Given the description of an element on the screen output the (x, y) to click on. 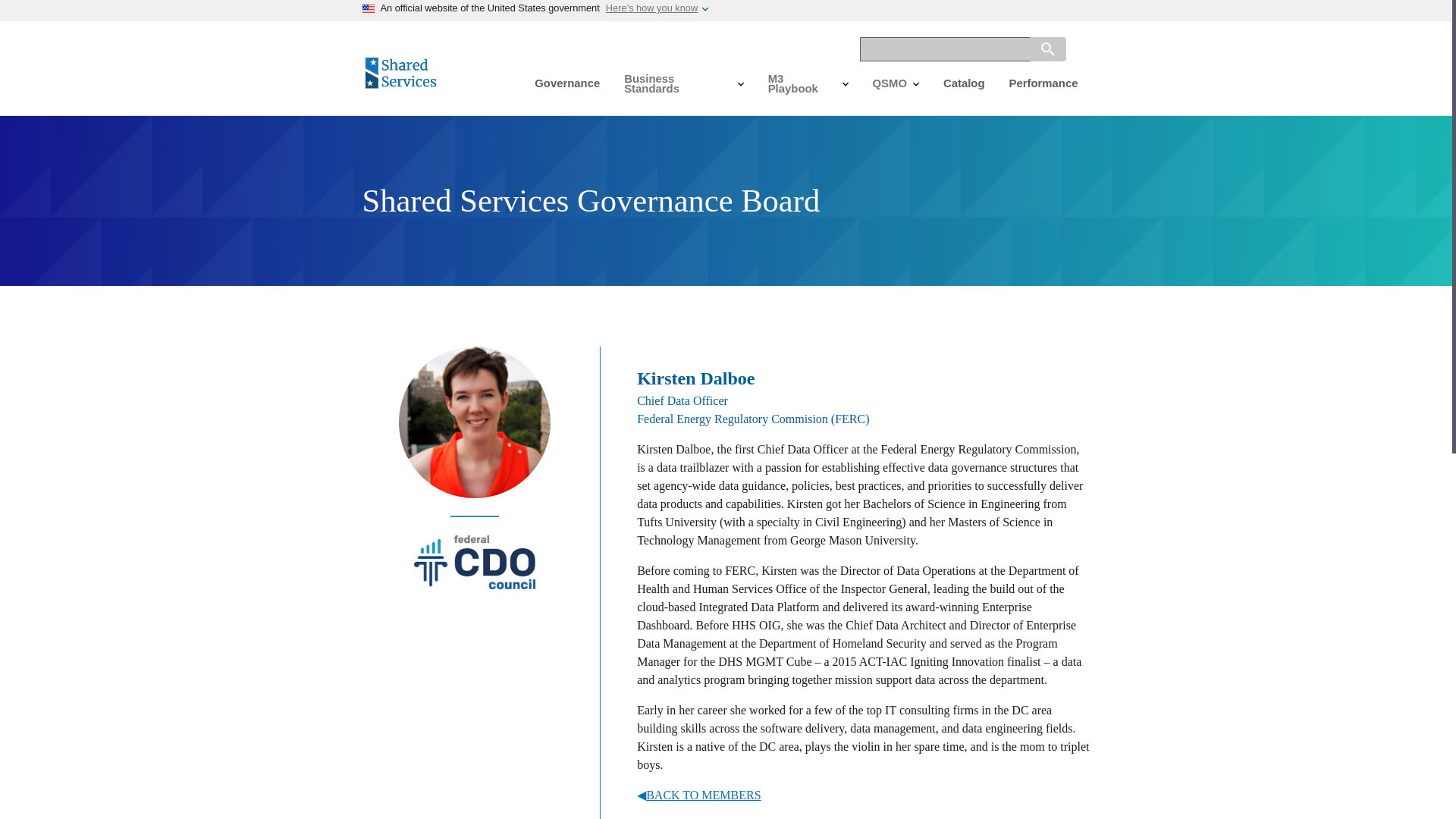
Governance (566, 84)
CDOC (474, 584)
M3 Playbook (807, 84)
Catalog (964, 84)
Members (863, 795)
Business Standards (683, 84)
Unified Shared Services Management Home (403, 92)
Performance (1043, 84)
QSMO (895, 84)
